Given the description of an element on the screen output the (x, y) to click on. 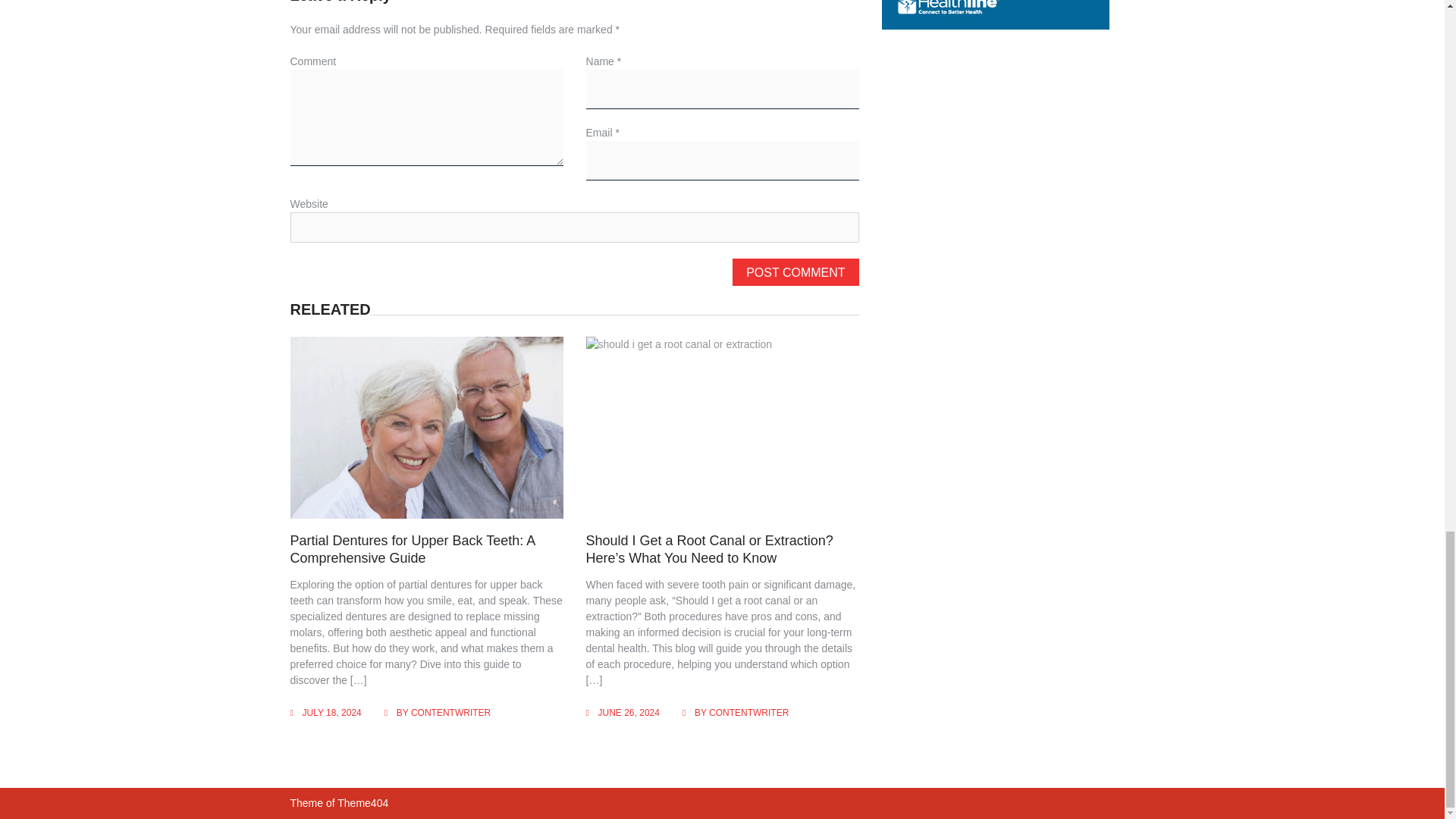
JUNE 26, 2024 (628, 712)
Post Comment (795, 271)
Partial Dentures for Upper Back Teeth: A Comprehensive Guide (411, 549)
Post Comment (795, 271)
CONTENTWRITER (749, 712)
CONTENTWRITER (450, 712)
JULY 18, 2024 (331, 712)
